Given the description of an element on the screen output the (x, y) to click on. 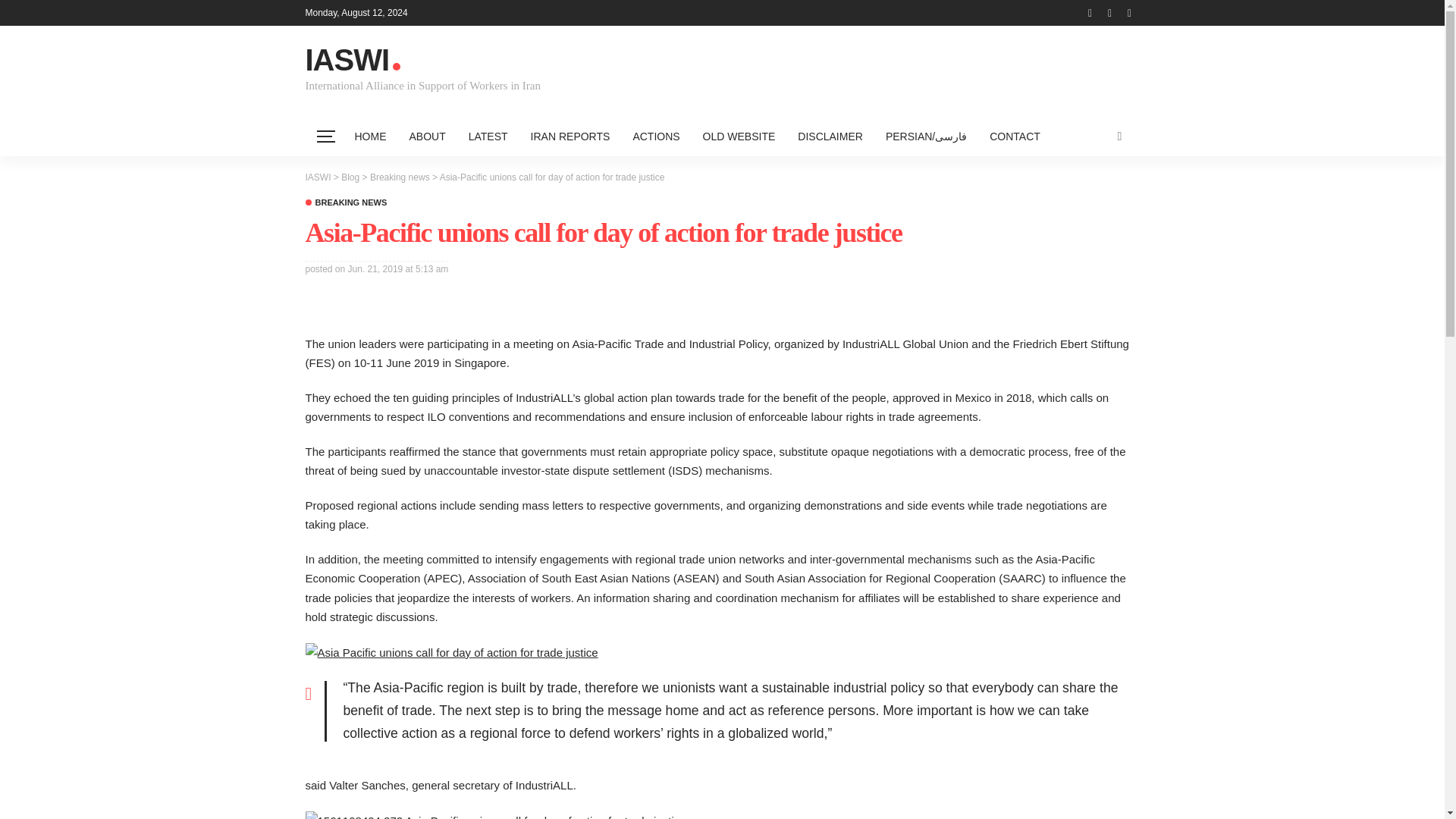
OLD WEBSITE (739, 136)
IRAN REPORTS (570, 136)
Blog (349, 176)
IASWI (317, 176)
ABOUT (427, 136)
Go to the Breaking news Category archives. (399, 176)
Go to IASWI. (317, 176)
search (1118, 136)
IASWI (418, 60)
